Given the description of an element on the screen output the (x, y) to click on. 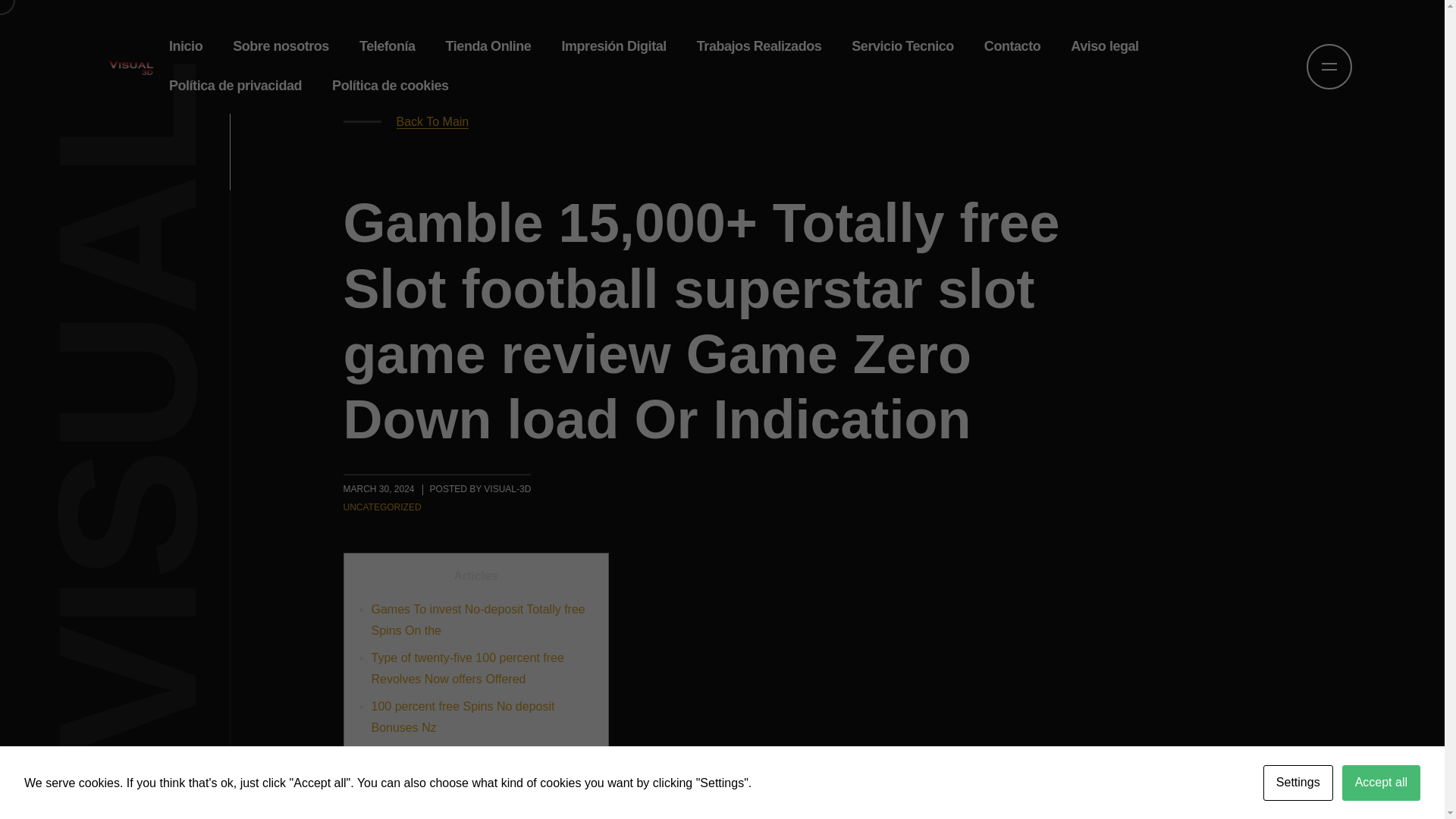
Contacto (1012, 46)
Tienda Online (488, 46)
Aviso legal (1104, 46)
Trabajos Realizados (759, 46)
Servicio Tecnico (902, 46)
Sobre nosotros (279, 46)
Inicio (185, 46)
